Given the description of an element on the screen output the (x, y) to click on. 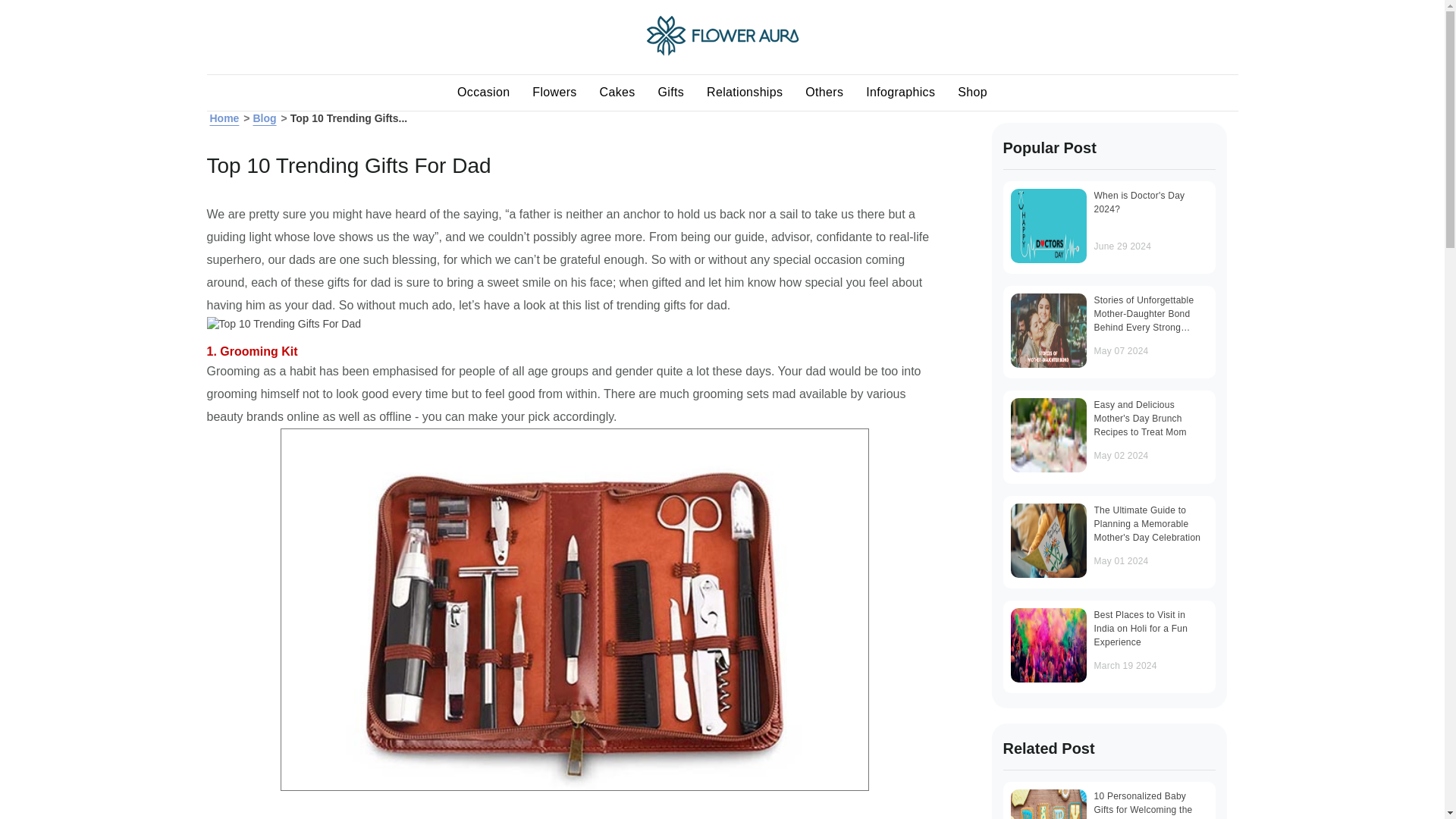
Best Places to Visit in India on Holi for a Fun Experience (1048, 645)
Flowers (554, 92)
When is Doctor's Day 2024?  (1048, 225)
Blog (264, 118)
Blog (264, 118)
Top 10 Trending Gifts For Dad (283, 323)
Home (224, 118)
